Given the description of an element on the screen output the (x, y) to click on. 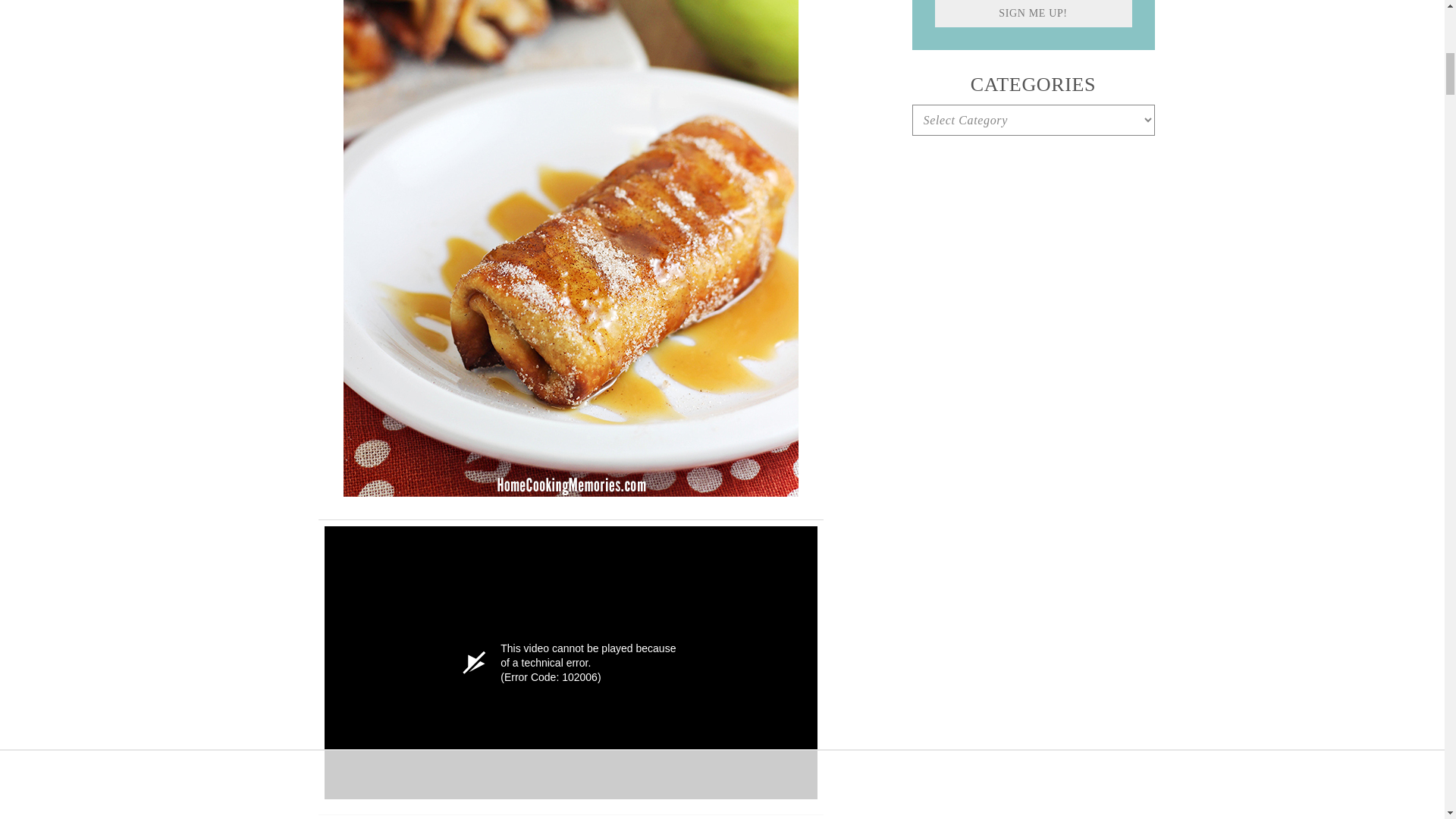
SIGN ME UP! (1032, 13)
